Given the description of an element on the screen output the (x, y) to click on. 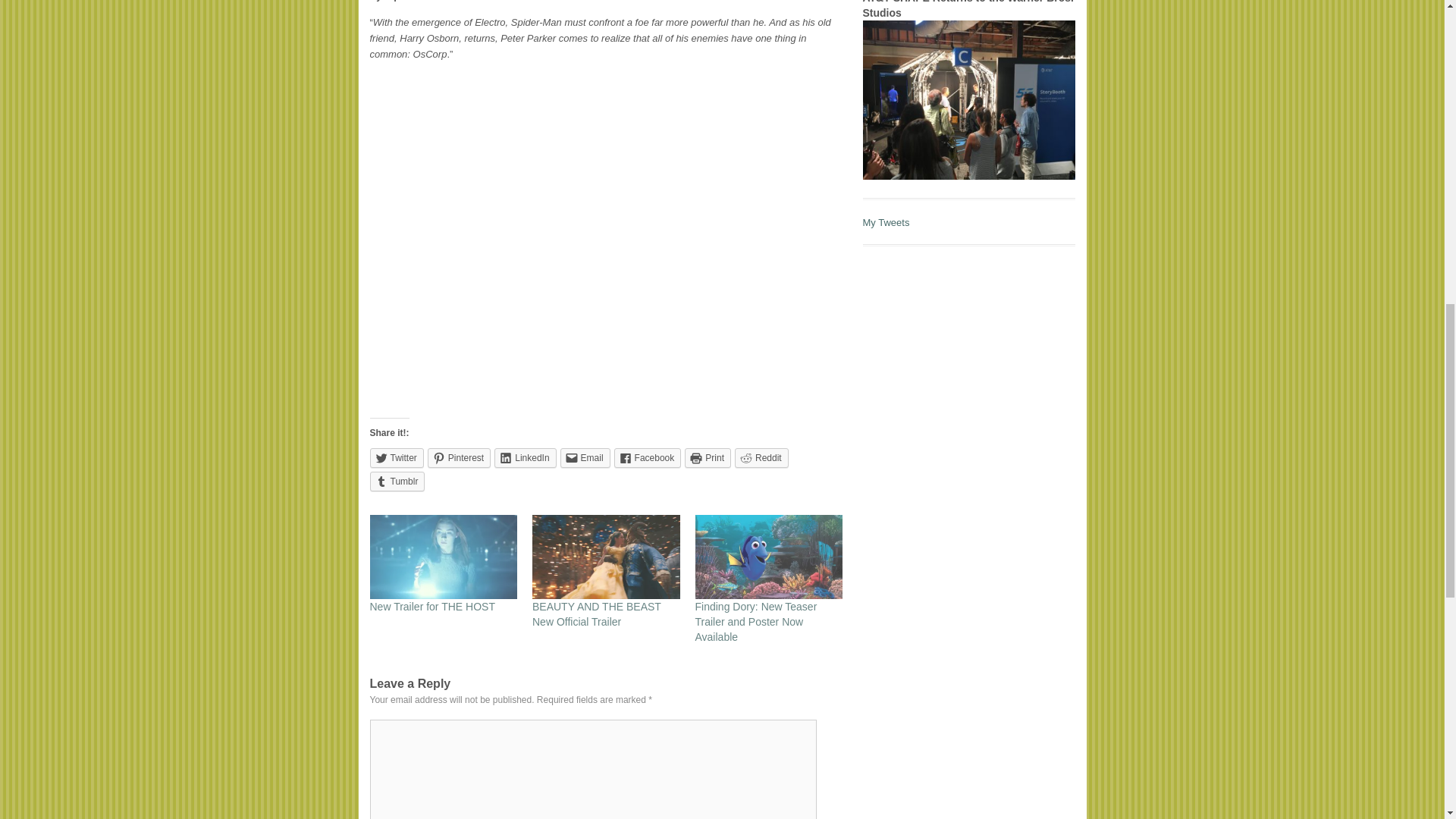
Click to share on Pinterest (459, 457)
Reddit (762, 457)
BEAUTY AND THE BEAST New Official Trailer (596, 614)
Click to share on Twitter (396, 457)
Tumblr (397, 481)
Click to email this to a friend (585, 457)
Click to share on LinkedIn (525, 457)
Email (585, 457)
Click to print (707, 457)
Click to share on Reddit (762, 457)
Click to share on Facebook (647, 457)
Click to share on Tumblr (397, 481)
Finding Dory: New Teaser Trailer and Poster Now Available (755, 621)
Pinterest (459, 457)
Twitter (396, 457)
